Given the description of an element on the screen output the (x, y) to click on. 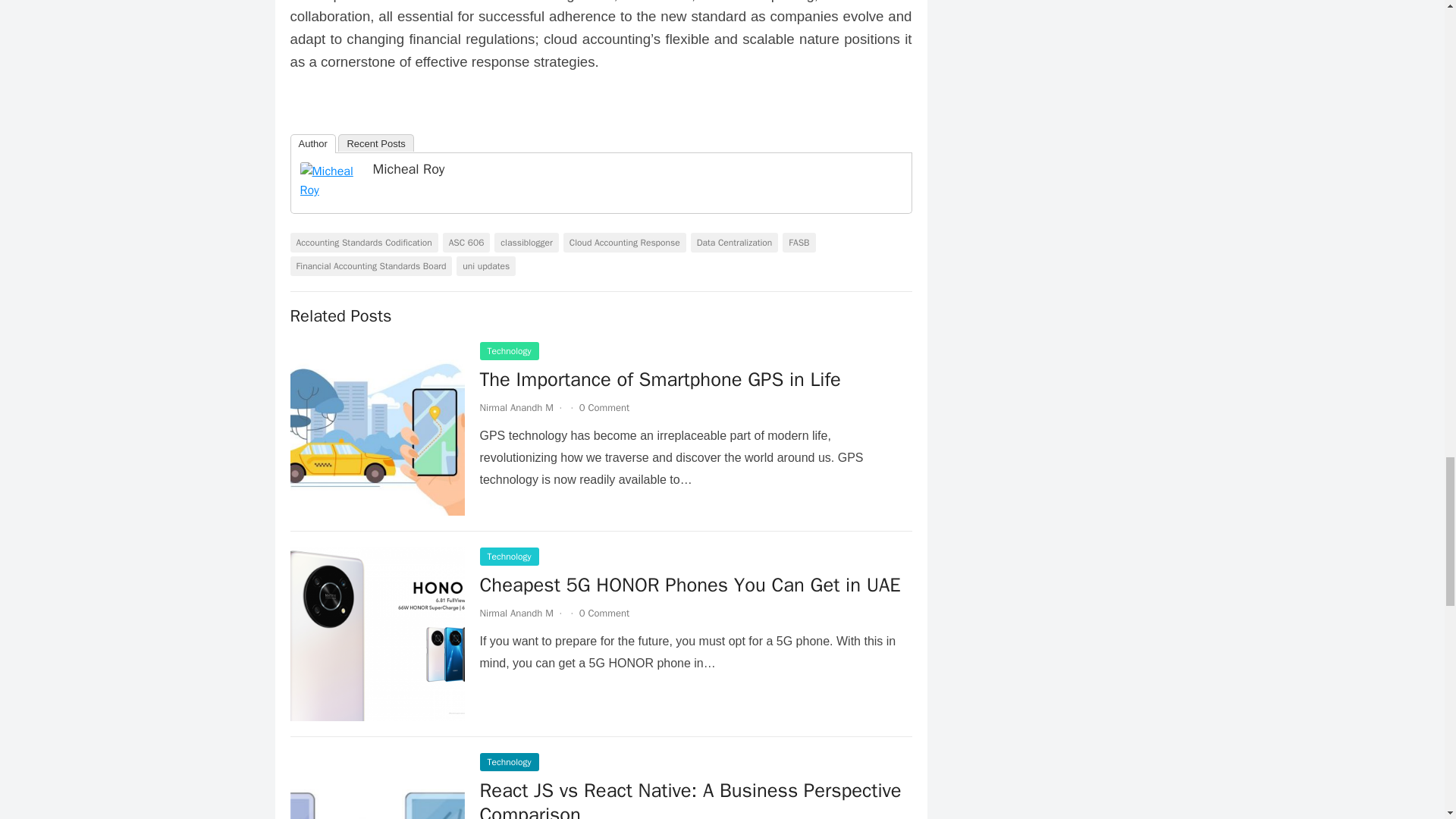
Micheal Roy (330, 190)
Posts by Nirmal Anandh M (516, 407)
Posts by Nirmal Anandh M (516, 612)
